Given the description of an element on the screen output the (x, y) to click on. 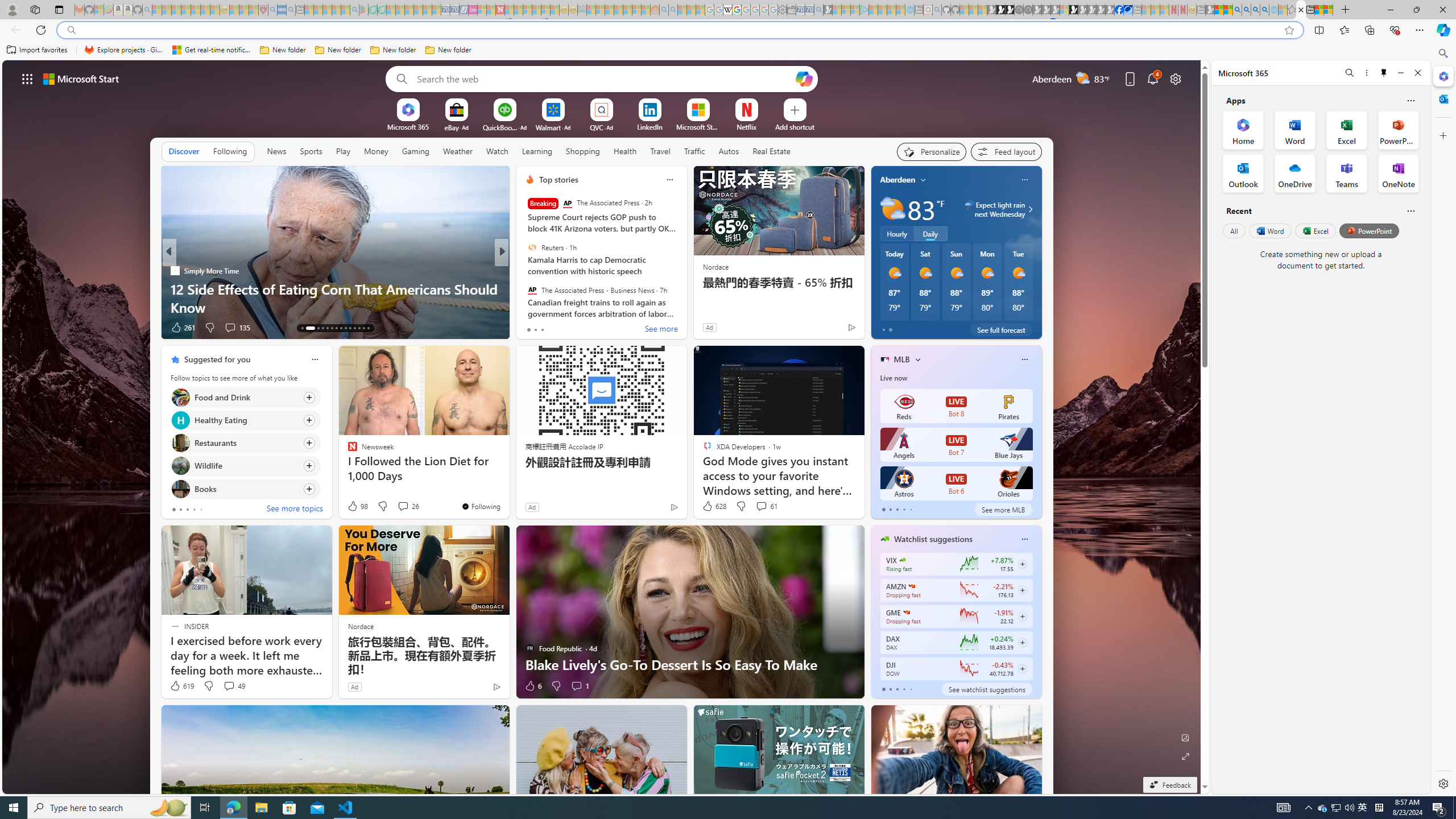
ZDNet (524, 270)
View comments 31 Comment (585, 327)
AutomationID: tab-26 (368, 328)
AutomationID: tab-21 (345, 328)
